Given the description of an element on the screen output the (x, y) to click on. 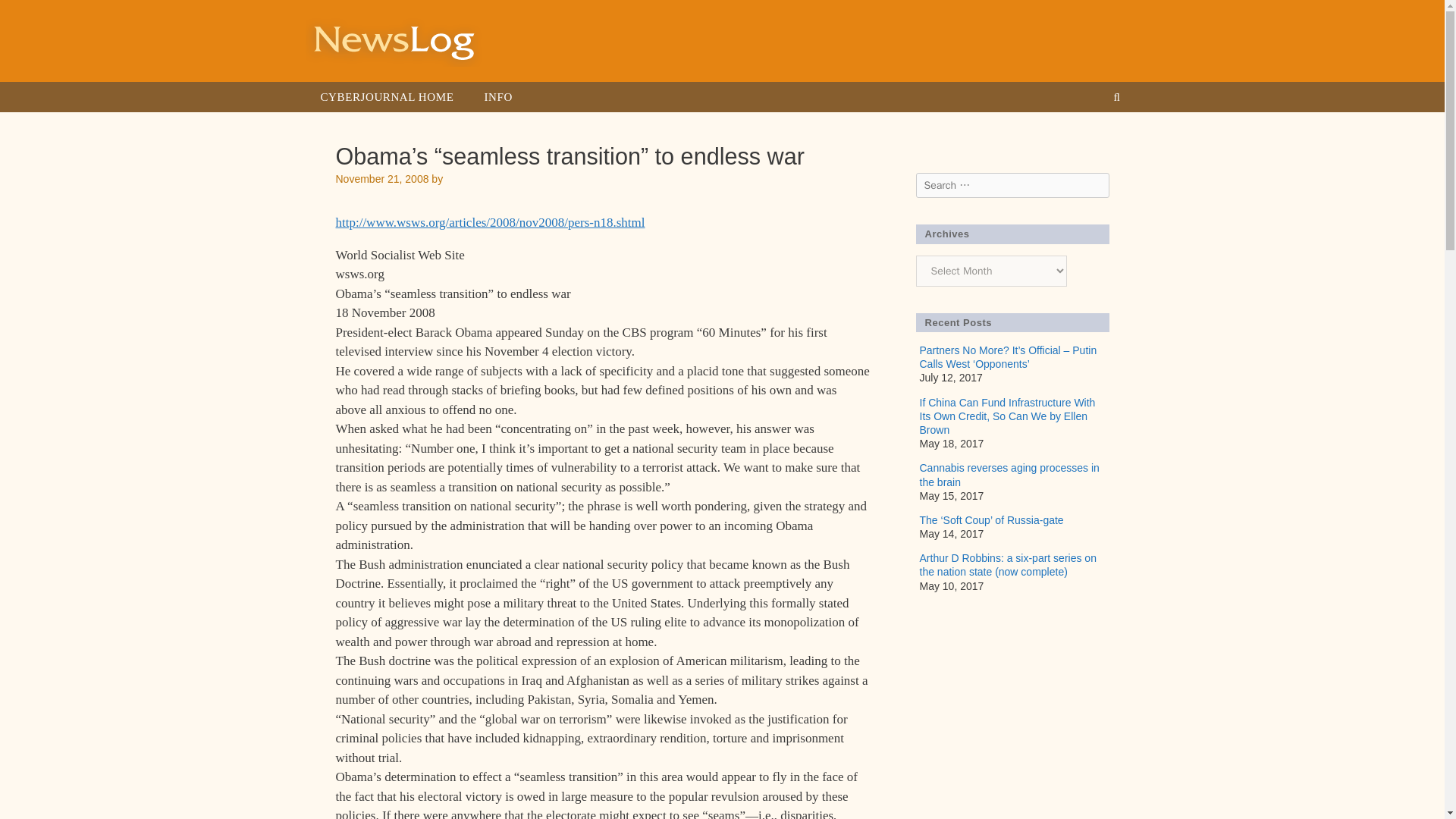
Search (32, 16)
Search for: (1012, 185)
Cannabis reverses aging processes in the brain (1008, 474)
INFO (497, 96)
CYBERJOURNAL HOME (386, 96)
